Given the description of an element on the screen output the (x, y) to click on. 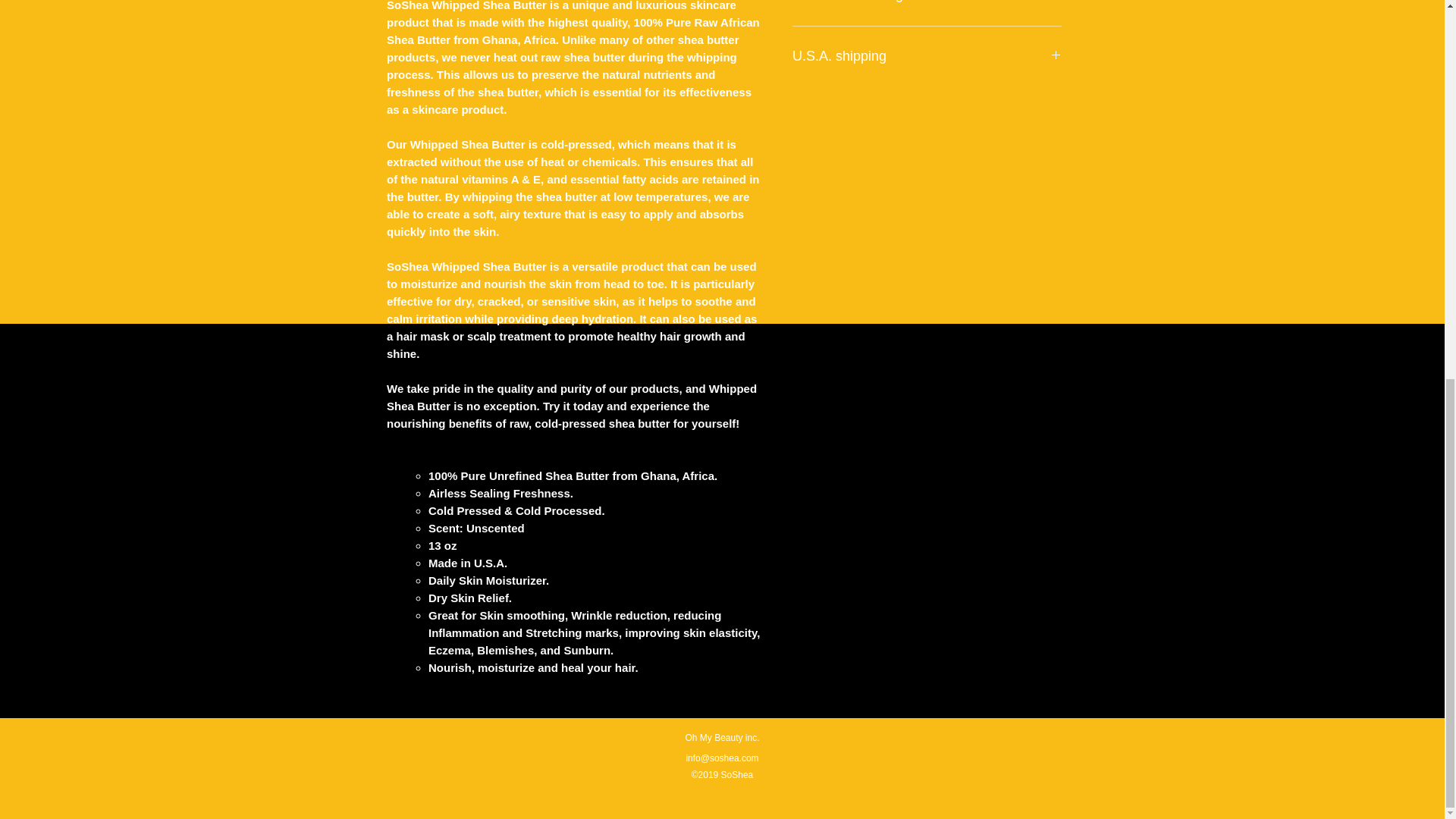
Oh My Beauty inc. (721, 737)
U.S.A. shipping (926, 56)
